Given the description of an element on the screen output the (x, y) to click on. 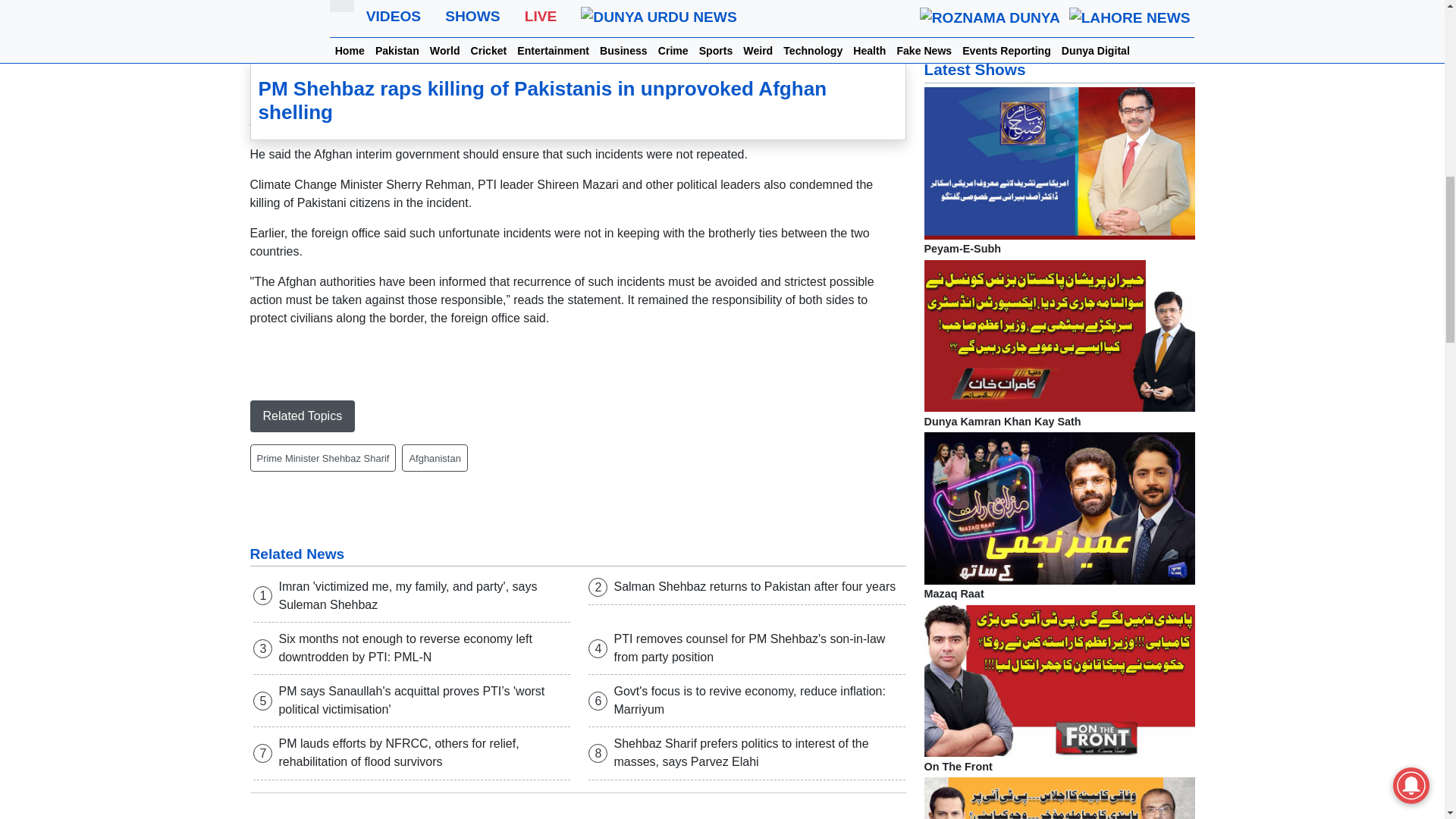
Vuukle Emotes Widget (577, 812)
